Given the description of an element on the screen output the (x, y) to click on. 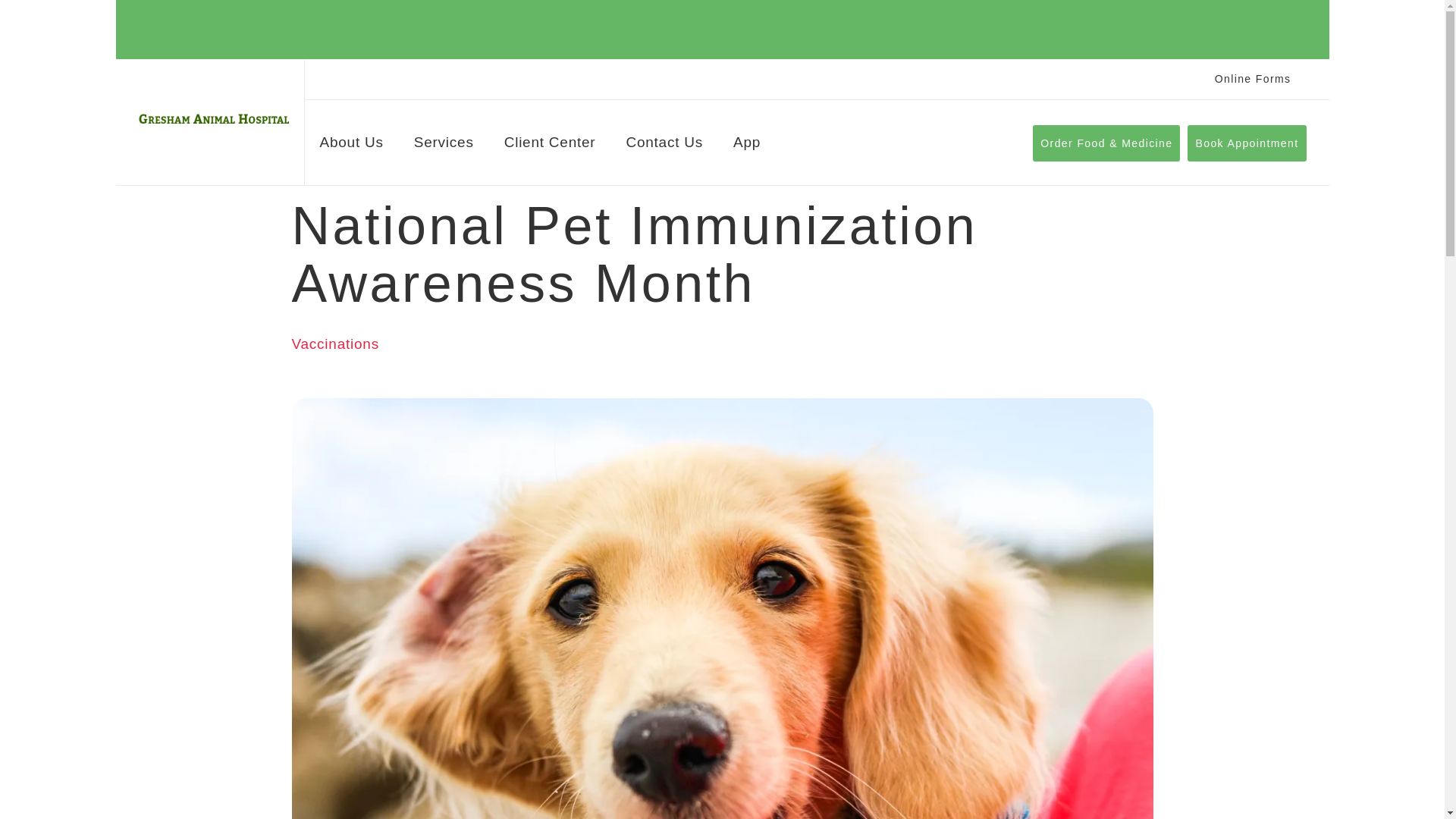
About Us (352, 145)
Client Center (549, 145)
About Us (352, 145)
Online Forms (1252, 78)
Contact Us (664, 145)
Client Center (549, 145)
Services (443, 145)
Book Appointment (1247, 142)
Services (443, 145)
App (746, 145)
Online Forms (1252, 78)
Logo (213, 118)
